Given the description of an element on the screen output the (x, y) to click on. 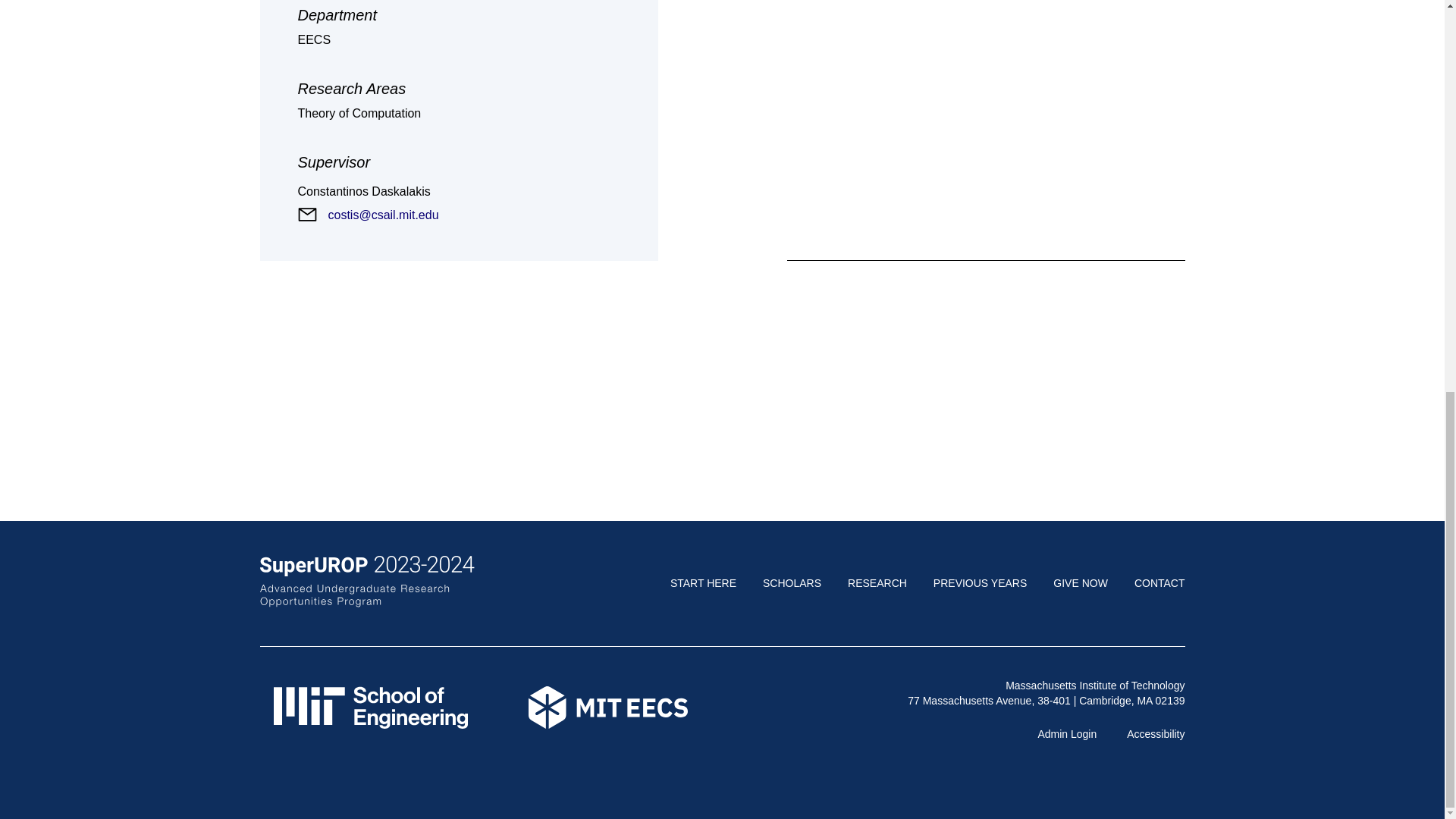
SCHOLARS (791, 582)
START HERE (702, 582)
RESEARCH (877, 582)
PREVIOUS YEARS (979, 582)
Accessibility (1155, 734)
CONTACT (1159, 582)
Admin Login (1066, 734)
GIVE NOW (1080, 582)
